Given the description of an element on the screen output the (x, y) to click on. 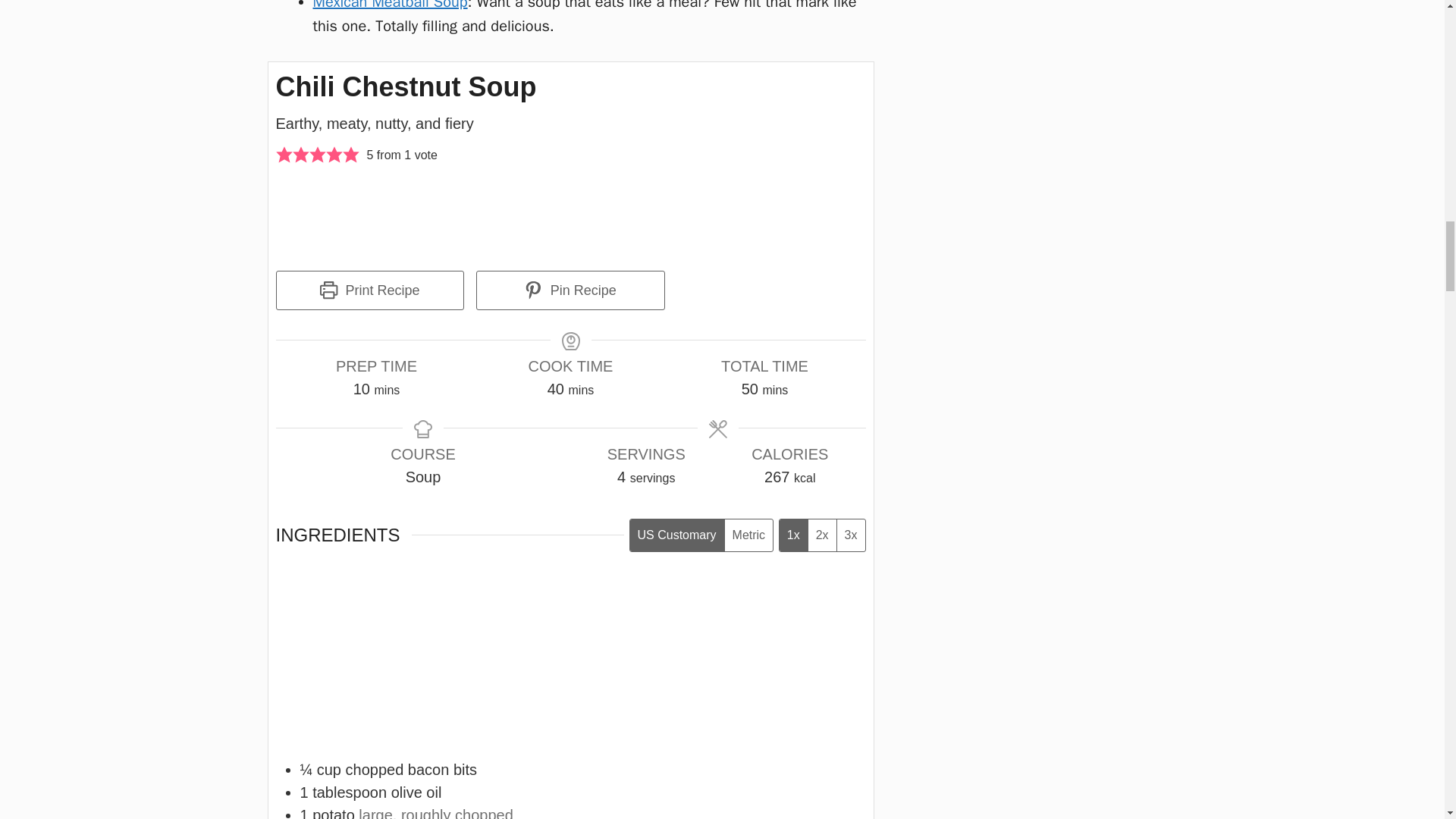
Metric (748, 534)
Pin Recipe (570, 290)
2x (821, 534)
Print Recipe (370, 290)
3x (849, 534)
Mexican Meatball Soup (390, 5)
1x (793, 534)
US Customary (676, 534)
